Given the description of an element on the screen output the (x, y) to click on. 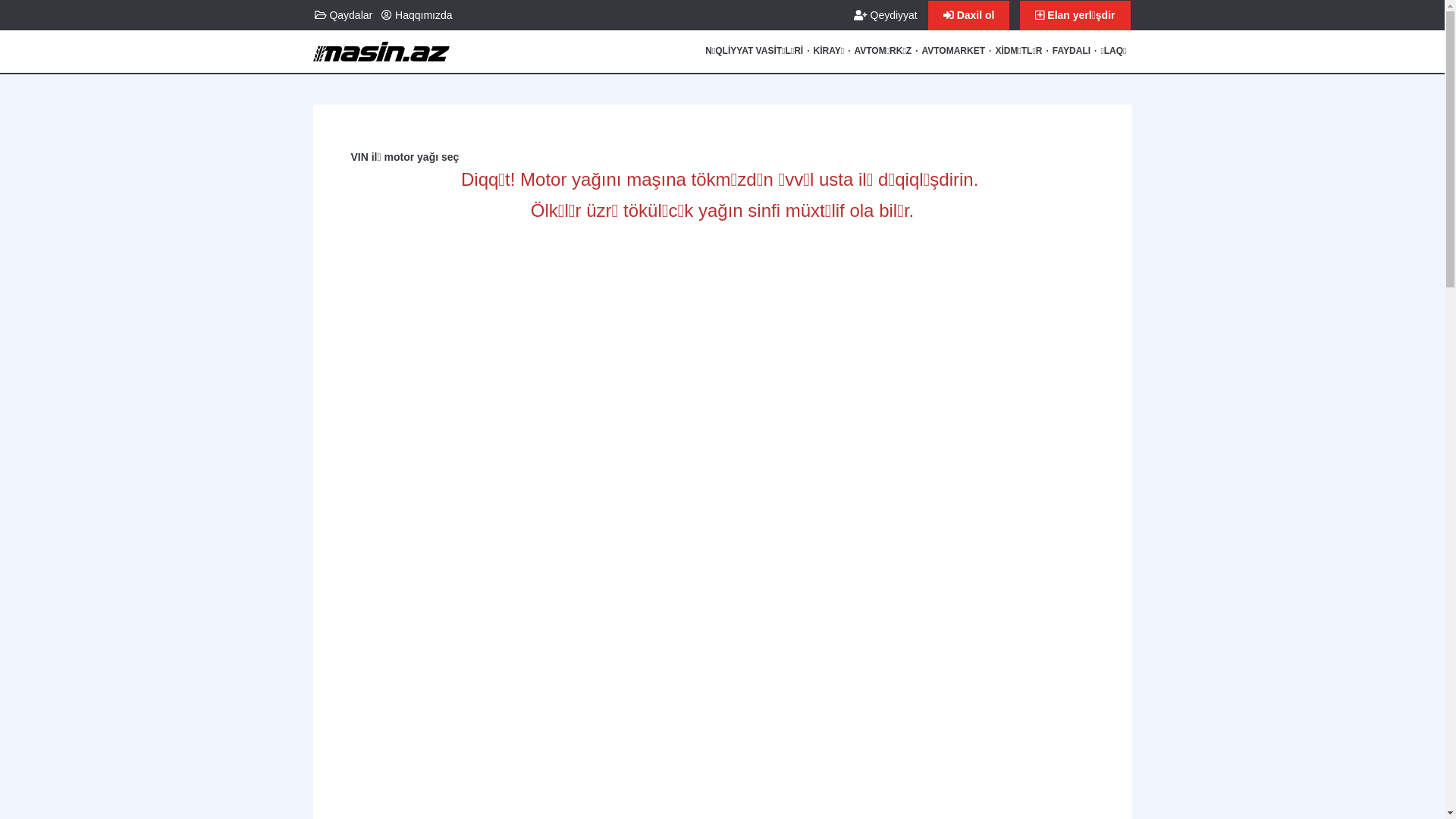
Daxil ol Element type: text (901, 151)
Qeydiyyat Element type: text (885, 15)
AVTOMARKET Element type: text (952, 51)
Daxil ol Element type: text (969, 15)
Loqotip Element type: hover (380, 57)
Qaydalar Element type: text (342, 15)
Loqotip Element type: hover (380, 45)
FAYDALI Element type: text (1071, 51)
